Given the description of an element on the screen output the (x, y) to click on. 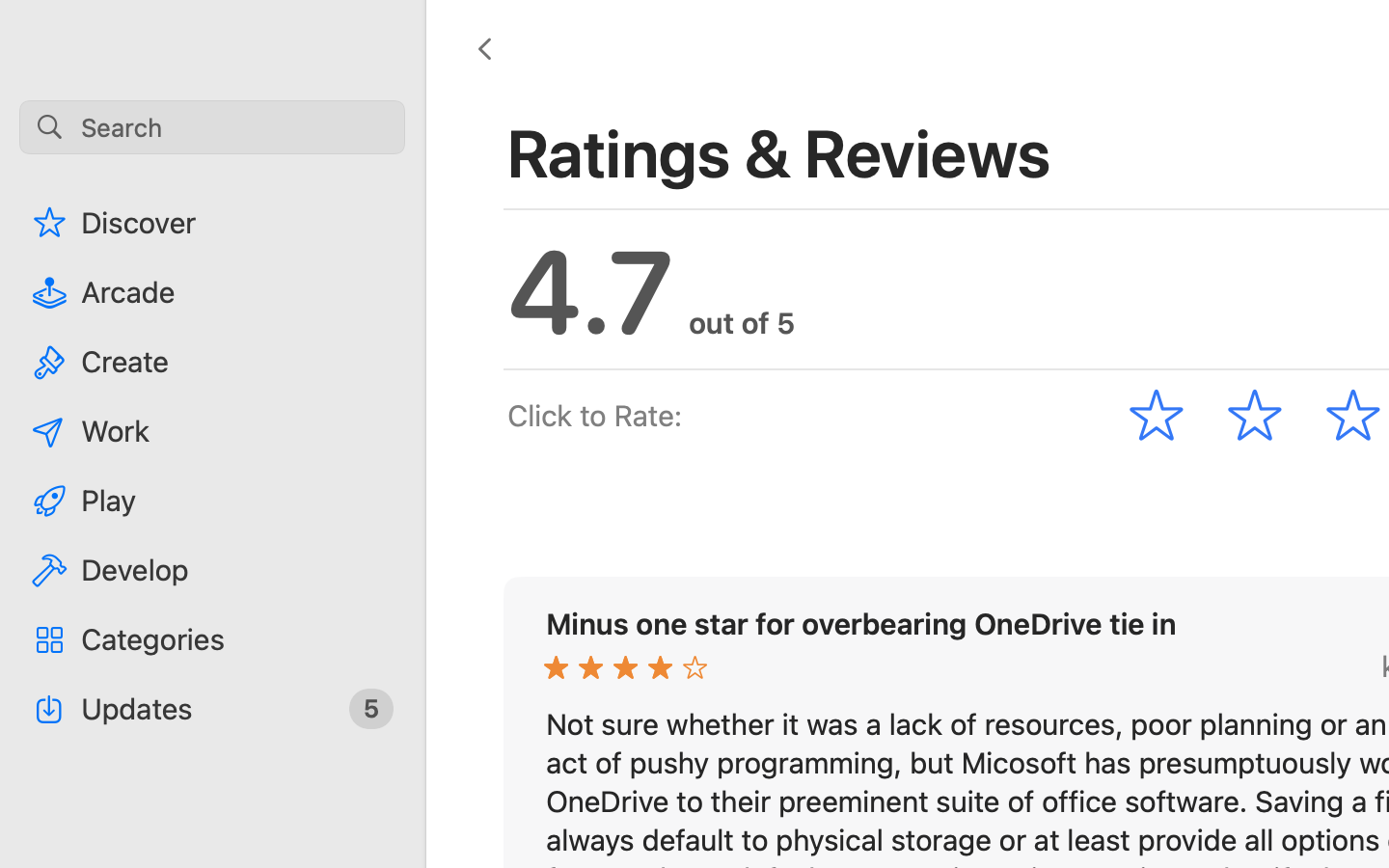
Ratings & Reviews Element type: AXStaticText (780, 151)
